Given the description of an element on the screen output the (x, y) to click on. 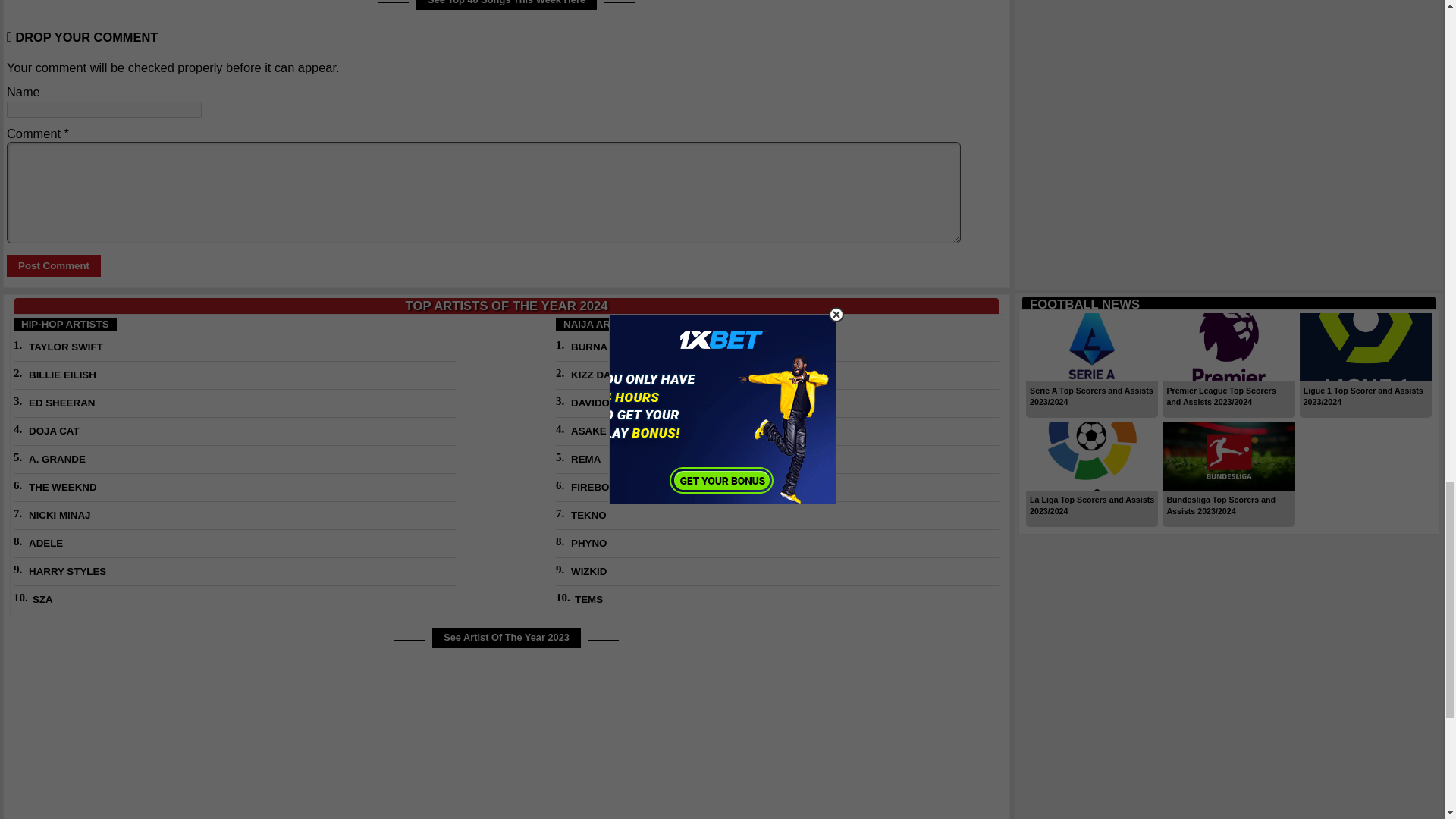
Post Comment (53, 265)
See Top 40 Songs This Week Here (506, 4)
Post Comment (53, 265)
